Given the description of an element on the screen output the (x, y) to click on. 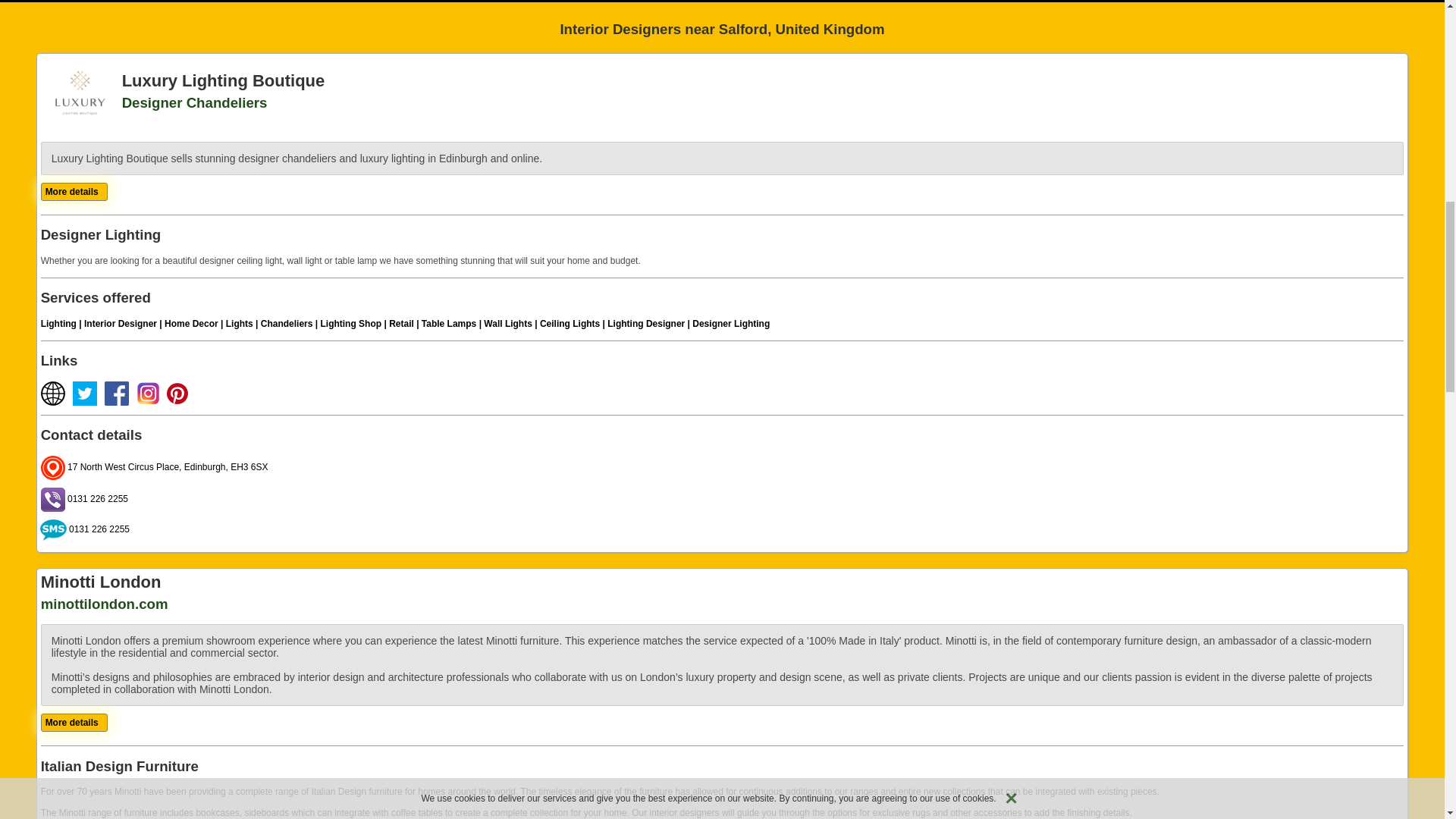
minottilondon.com (104, 603)
Designer Chandeliers (194, 102)
0131 226 2255 (84, 498)
17 North West Circus Place, Edinburgh, EH3 6SX (153, 466)
0131 226 2255 (84, 529)
More details (72, 191)
More details (72, 722)
